Given the description of an element on the screen output the (x, y) to click on. 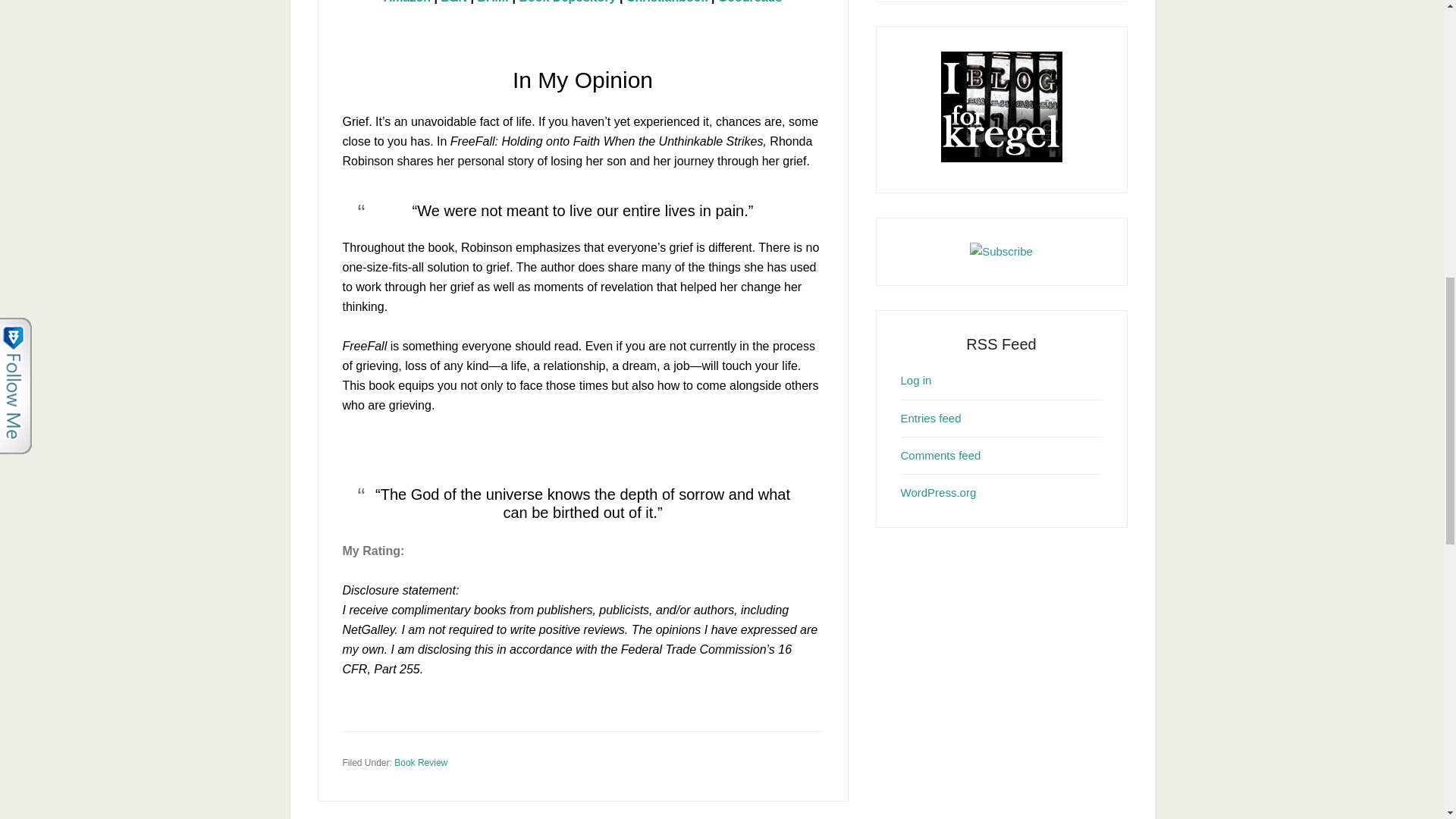
Book Depository (566, 2)
WordPress.org (938, 492)
Christianbook (666, 2)
Entries feed (930, 417)
Book Review (420, 761)
Goodreads (749, 2)
Comments feed (941, 454)
Log in (916, 379)
Amazon (407, 2)
BAM! (492, 2)
